Given the description of an element on the screen output the (x, y) to click on. 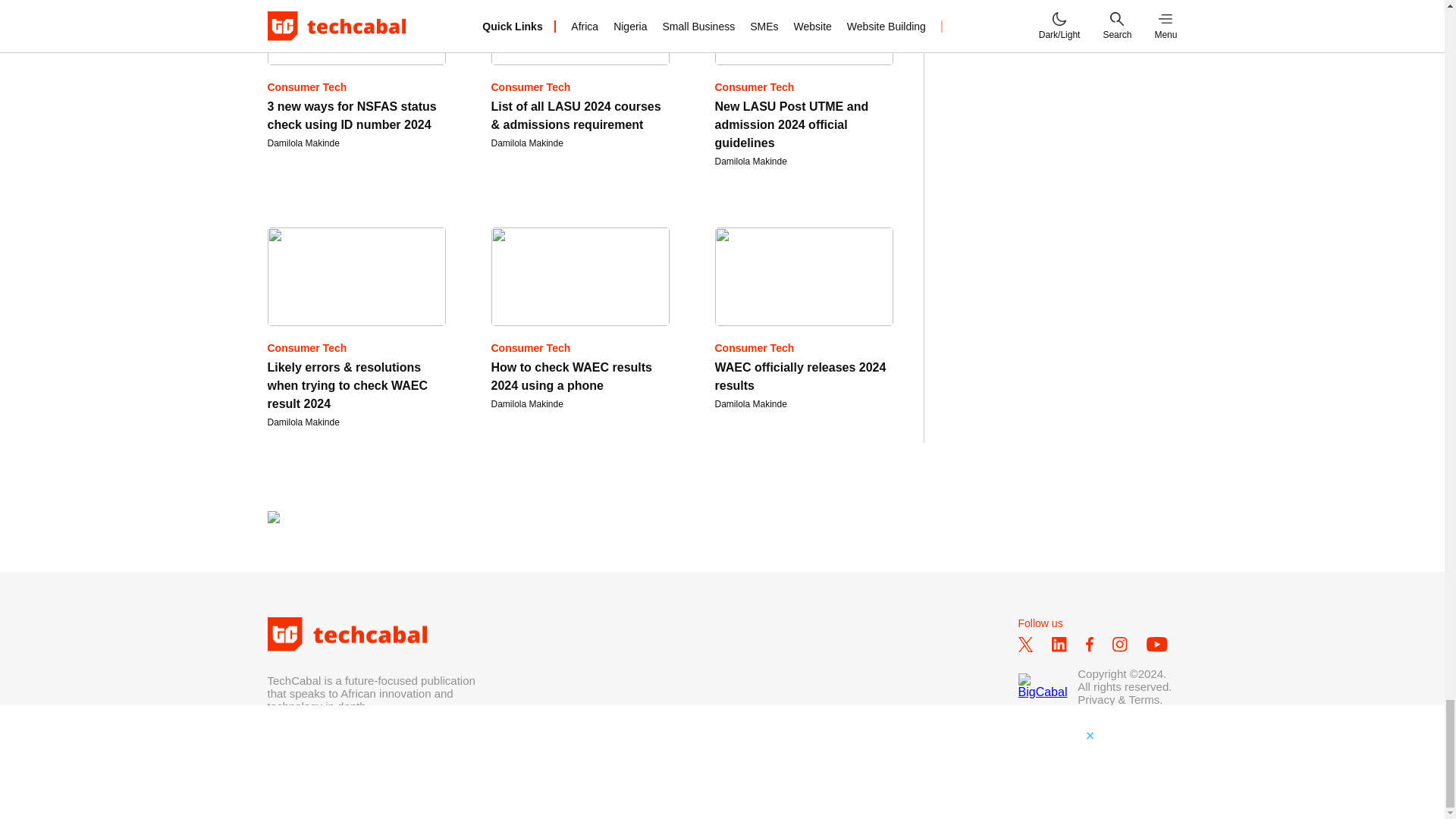
Posts by Damilola Makinde (302, 421)
Posts by Damilola Makinde (750, 403)
Posts by Damilola Makinde (527, 143)
Posts by Damilola Makinde (302, 143)
Posts by Damilola Makinde (527, 403)
Posts by Damilola Makinde (750, 161)
